Given the description of an element on the screen output the (x, y) to click on. 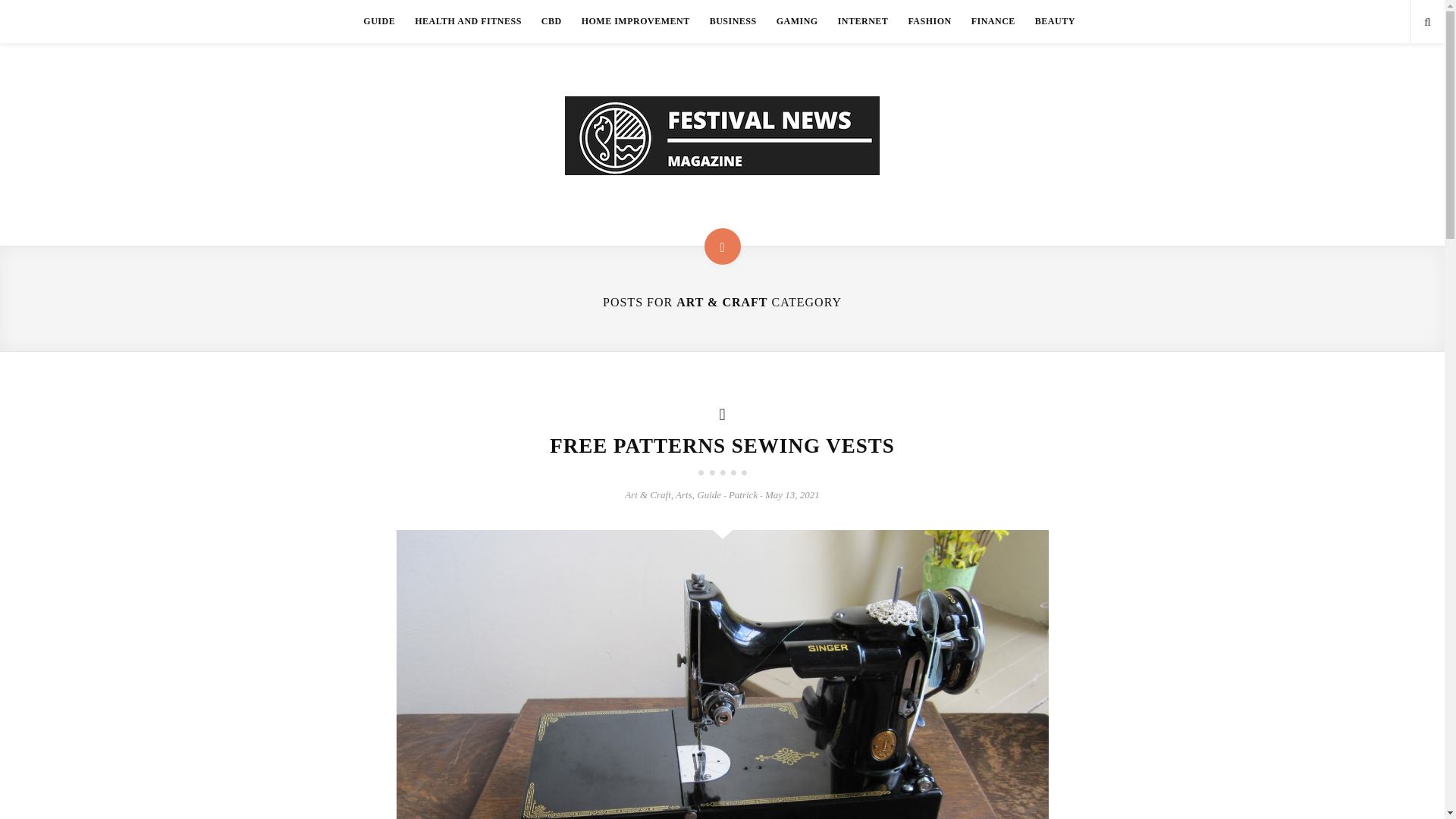
HEALTH AND FITNESS (467, 21)
CBD (551, 21)
Guide (708, 494)
FINANCE (992, 21)
GUIDE (378, 21)
BEAUTY (1054, 21)
GAMING (797, 21)
INTERNET (863, 21)
FREE PATTERNS SEWING VESTS (721, 445)
Arts (684, 494)
